Given the description of an element on the screen output the (x, y) to click on. 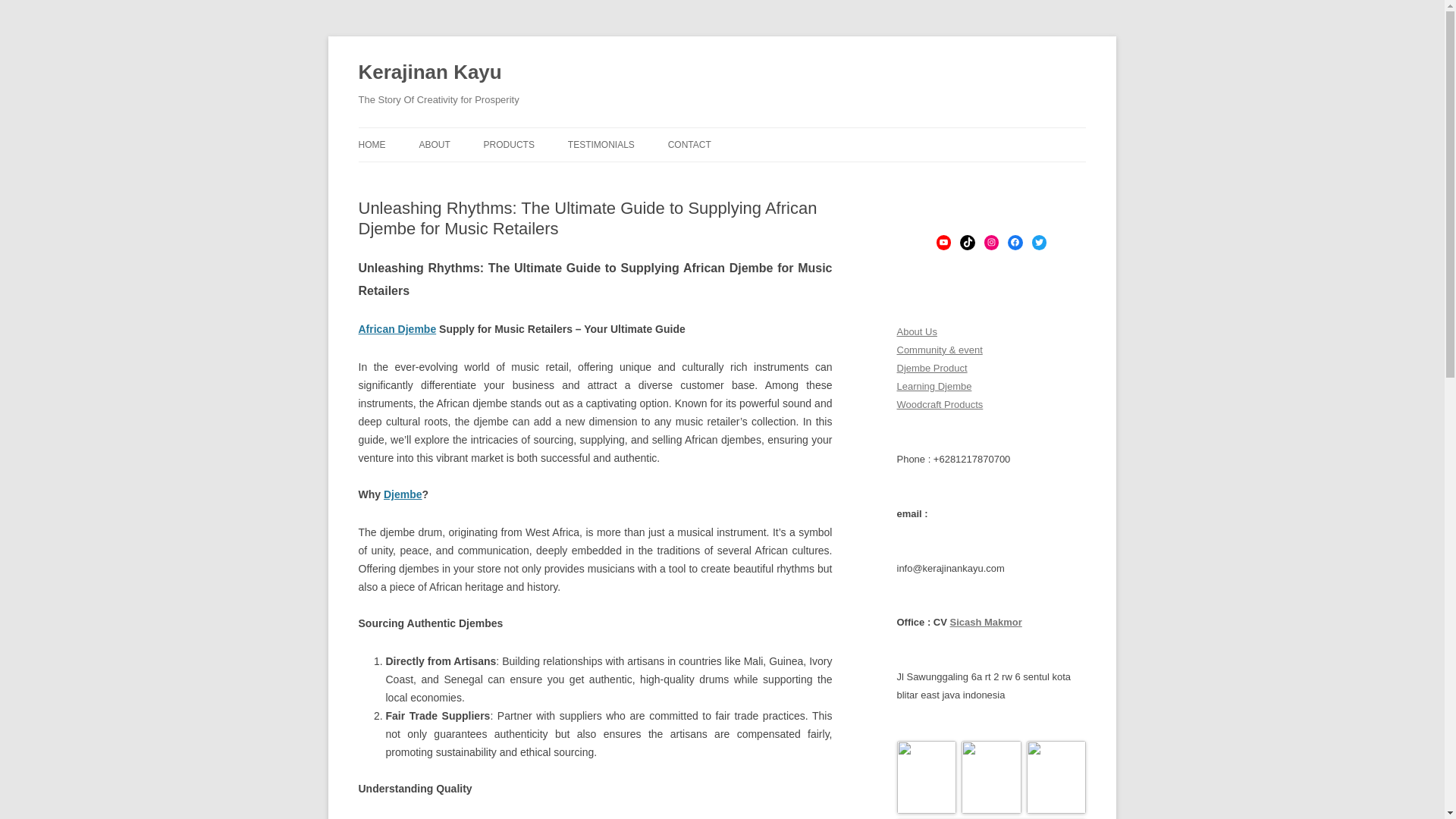
Djembe Product (931, 367)
Sicash Makmor (985, 622)
Djembe (403, 494)
Kerajinan Kayu (429, 72)
TikTok (966, 242)
About Us (916, 331)
Instagram (991, 242)
Facebook (1014, 242)
CONTACT (689, 144)
